Given the description of an element on the screen output the (x, y) to click on. 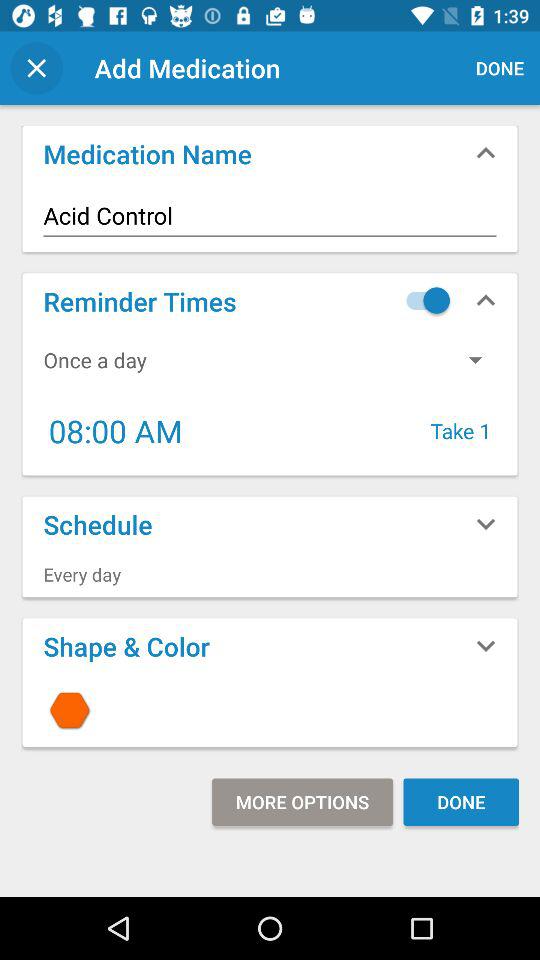
x (36, 68)
